Given the description of an element on the screen output the (x, y) to click on. 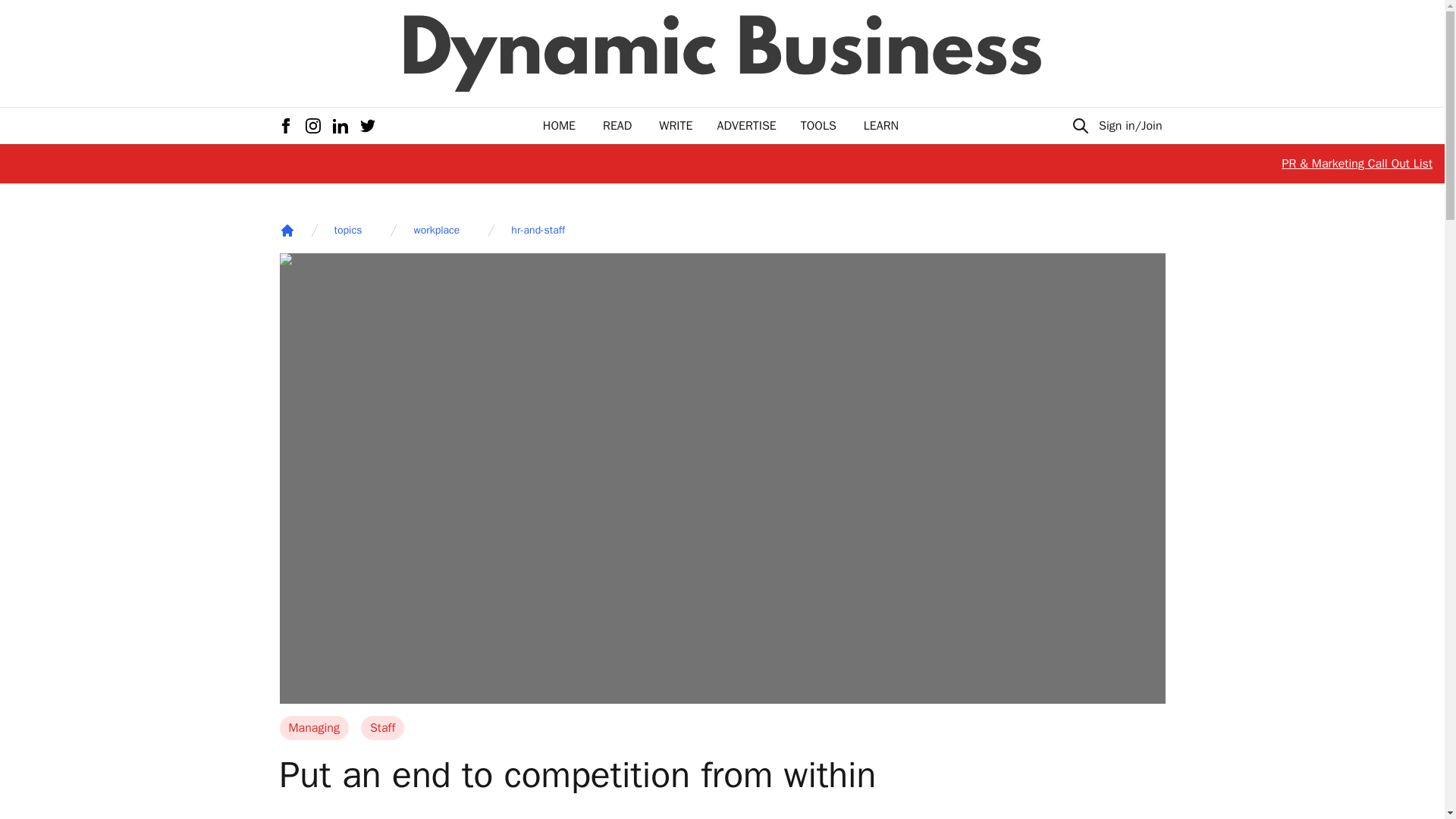
HOME (559, 126)
READ (616, 126)
workplace (436, 230)
WRITE (676, 126)
topics (347, 230)
Staff (382, 727)
TOOLS (817, 126)
Managing (313, 727)
LEARN (880, 126)
hr-and-staff (537, 230)
